Given the description of an element on the screen output the (x, y) to click on. 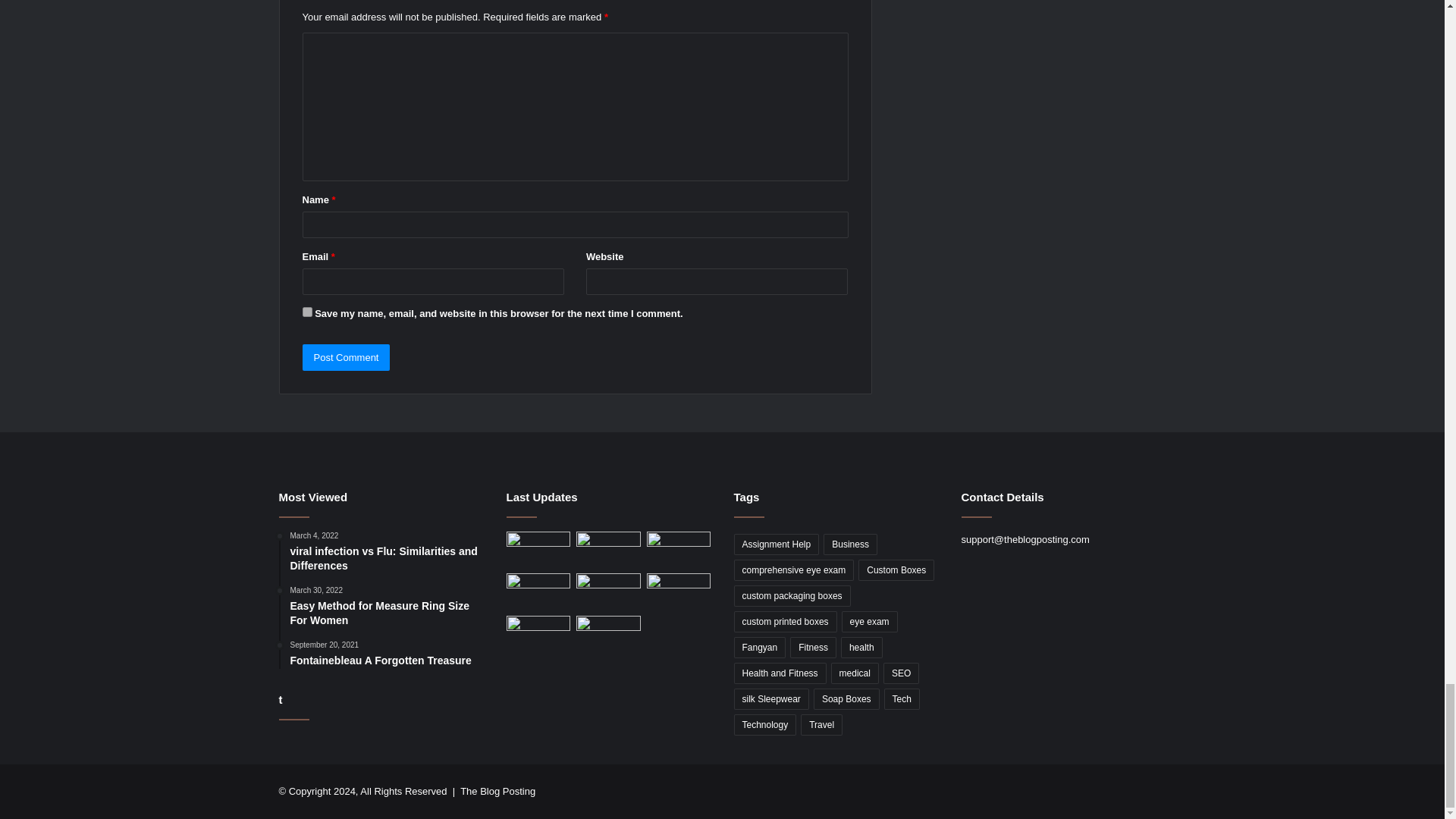
yes (306, 311)
Post Comment (345, 357)
